Given the description of an element on the screen output the (x, y) to click on. 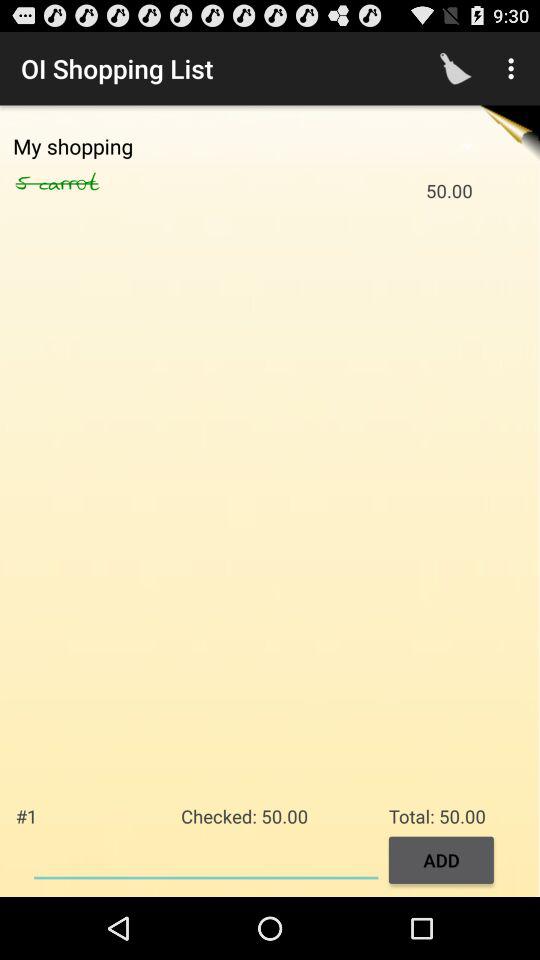
flip to carrot  icon (90, 183)
